Given the description of an element on the screen output the (x, y) to click on. 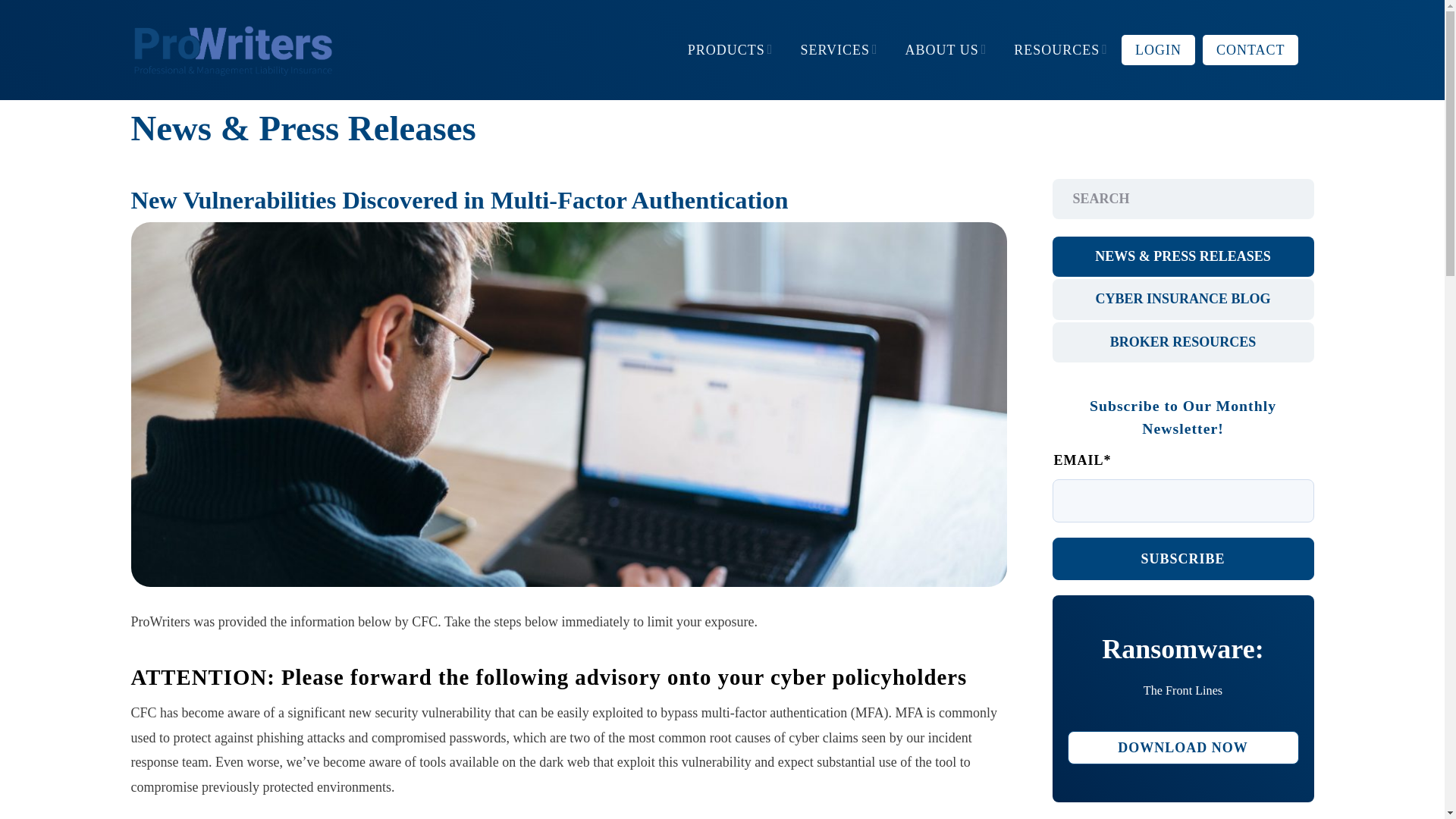
BROKER RESOURCES (1183, 342)
SERVICES (838, 50)
ABOUT US (946, 50)
PRODUCTS (730, 50)
CONTACT (1250, 50)
LOGIN (1158, 50)
CYBER INSURANCE BLOG (834, 50)
DOWNLOAD NOW (1183, 299)
RESOURCES (1182, 747)
